Given the description of an element on the screen output the (x, y) to click on. 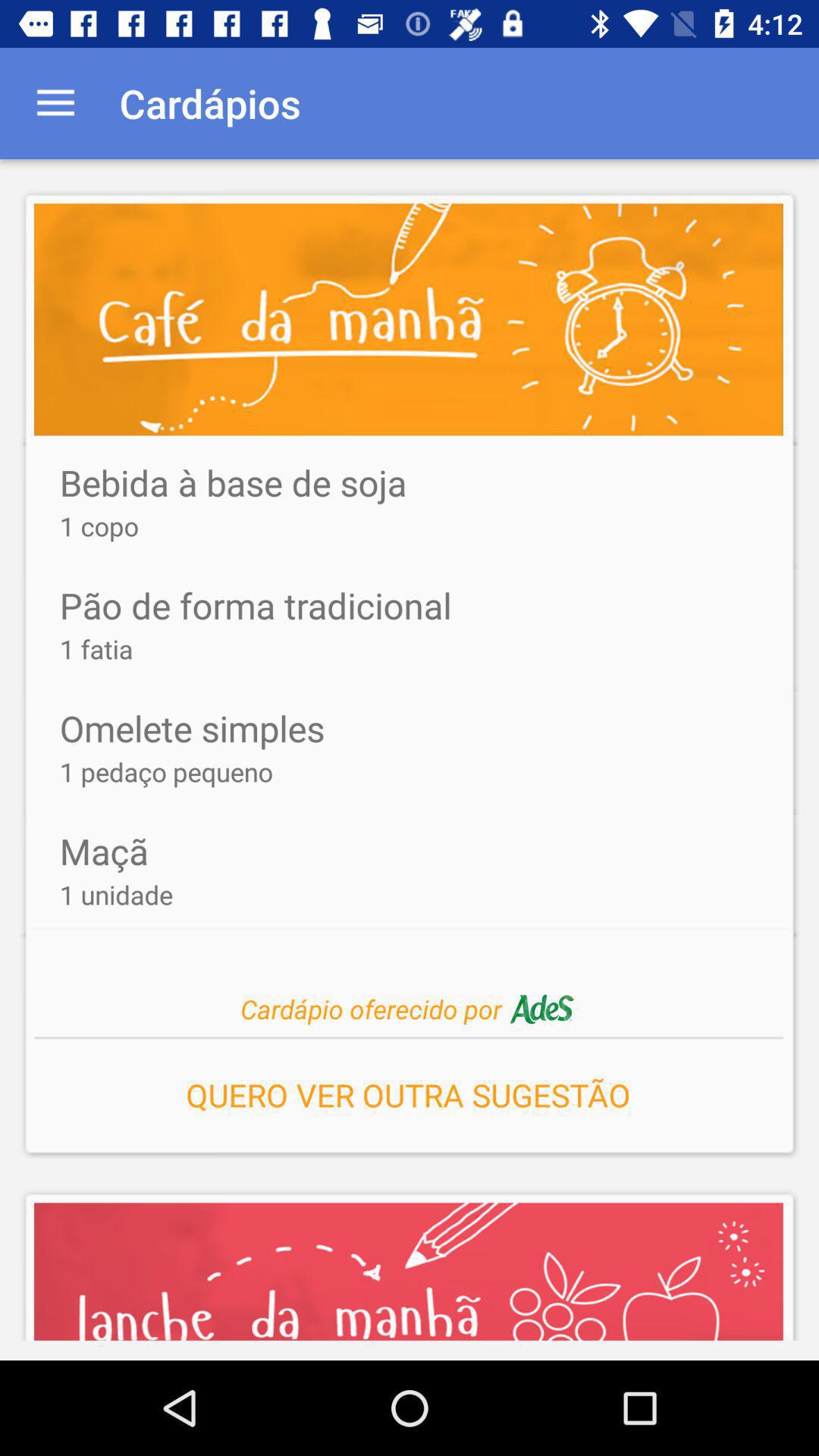
scroll to quero ver outra item (408, 1090)
